Given the description of an element on the screen output the (x, y) to click on. 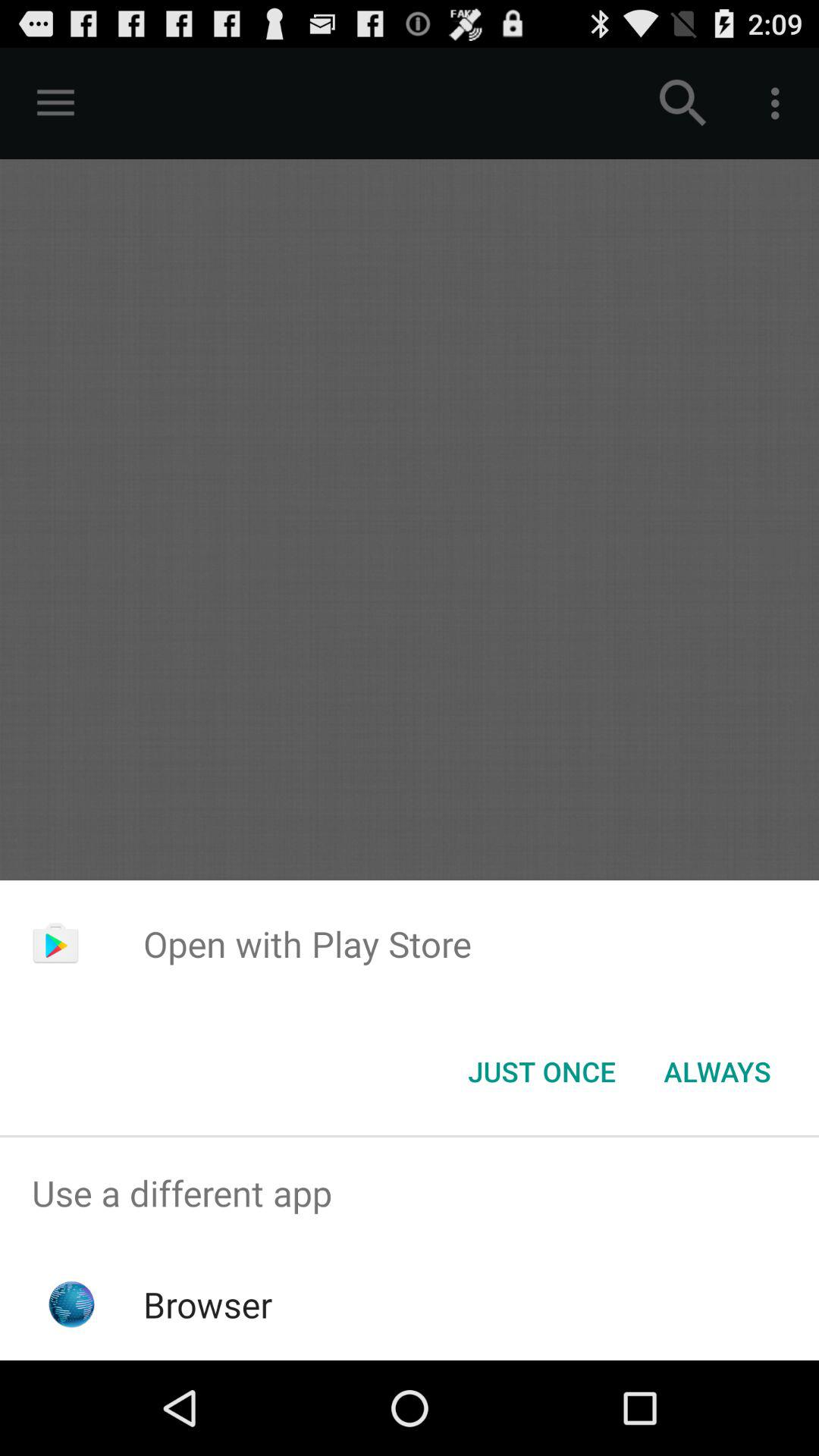
open icon below the open with play item (541, 1071)
